Given the description of an element on the screen output the (x, y) to click on. 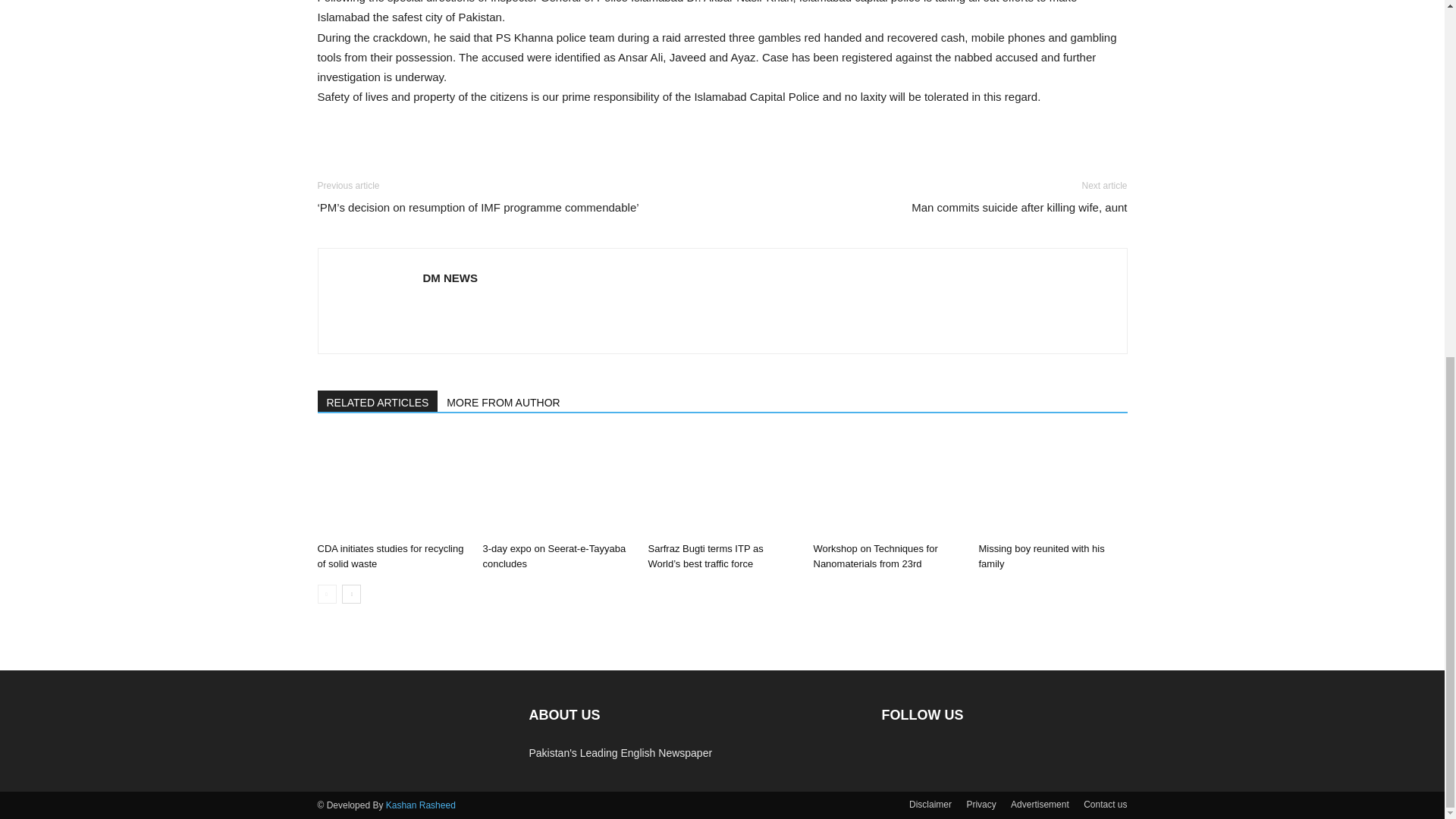
3-day expo on Seerat-e-Tayyaba concludes (553, 555)
3-day expo on Seerat-e-Tayyaba concludes (555, 485)
Missing boy reunited with his family (1052, 485)
CDA initiates studies for recycling of solid waste (390, 555)
CDA initiates studies for recycling of solid waste (391, 485)
Workshop on Techniques for Nanomaterials from 23rd (886, 485)
Workshop on Techniques for Nanomaterials from 23rd (874, 555)
